Given the description of an element on the screen output the (x, y) to click on. 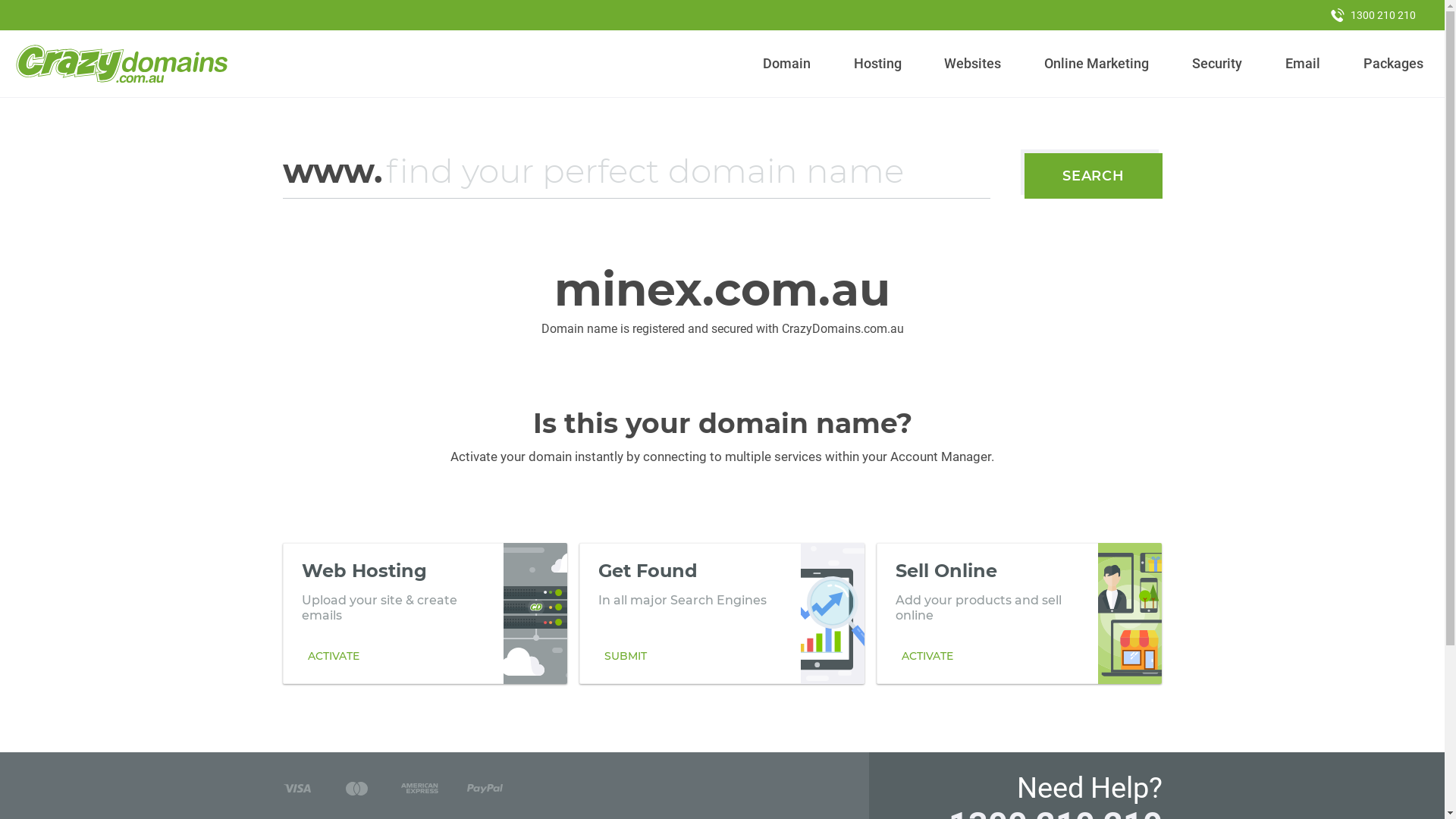
Security Element type: text (1217, 63)
Sell Online
Add your products and sell online
ACTIVATE Element type: text (1018, 613)
Packages Element type: text (1392, 63)
1300 210 210 Element type: text (1373, 15)
Email Element type: text (1302, 63)
Web Hosting
Upload your site & create emails
ACTIVATE Element type: text (424, 613)
SEARCH Element type: text (1092, 175)
Get Found
In all major Search Engines
SUBMIT Element type: text (721, 613)
Online Marketing Element type: text (1096, 63)
Websites Element type: text (972, 63)
Domain Element type: text (786, 63)
Hosting Element type: text (877, 63)
